Given the description of an element on the screen output the (x, y) to click on. 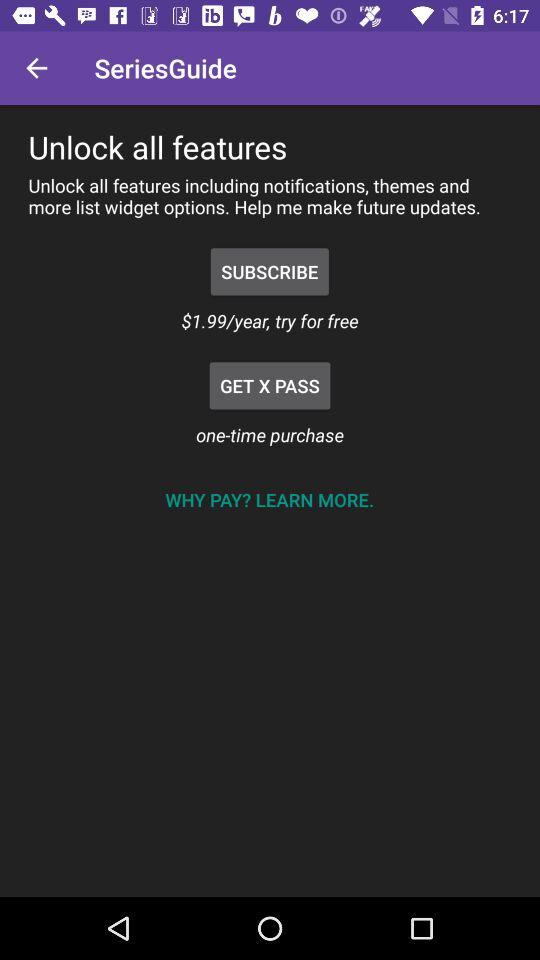
tap the item below unlock all features item (269, 271)
